Given the description of an element on the screen output the (x, y) to click on. 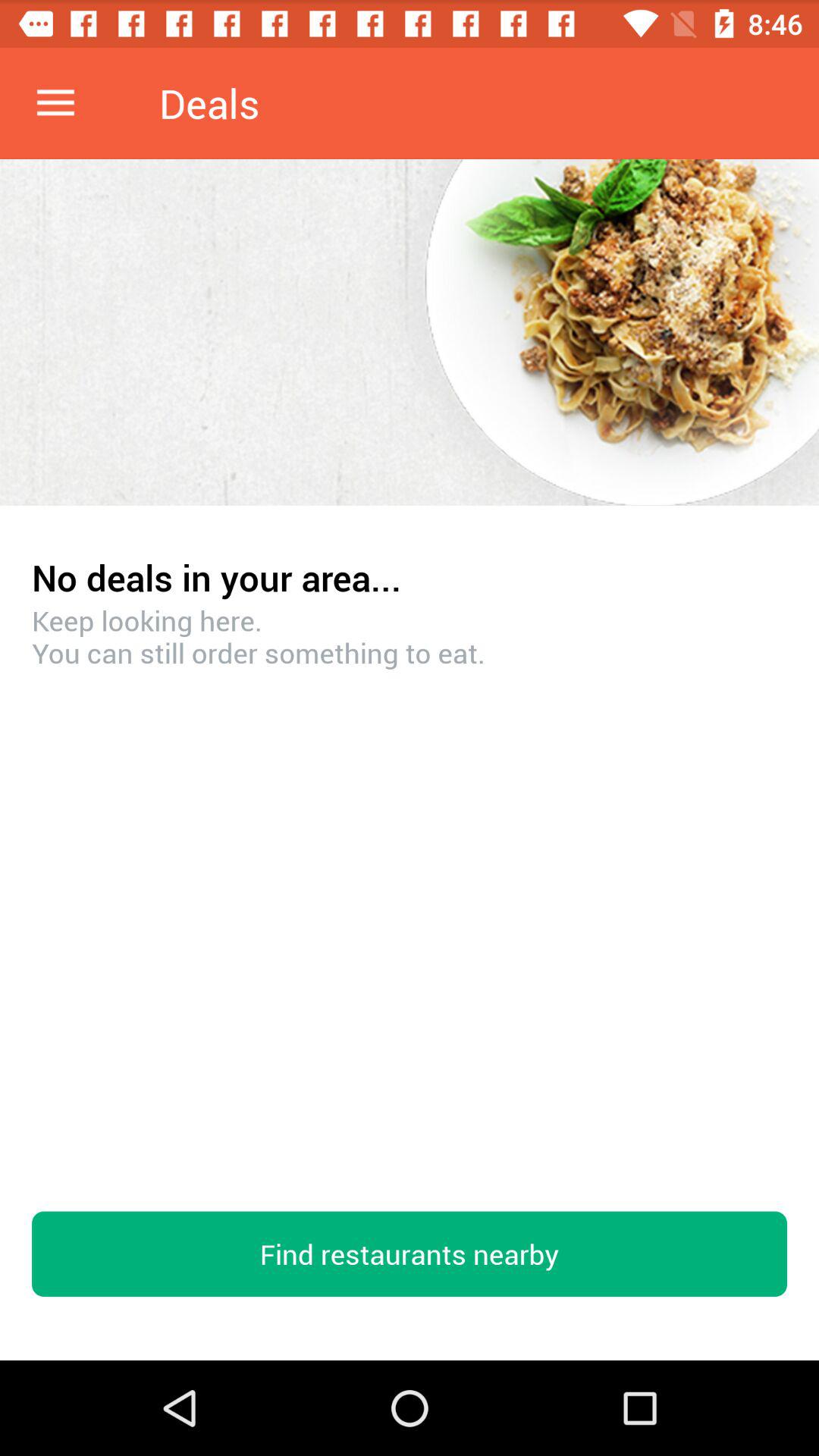
open icon at the top left corner (55, 103)
